Given the description of an element on the screen output the (x, y) to click on. 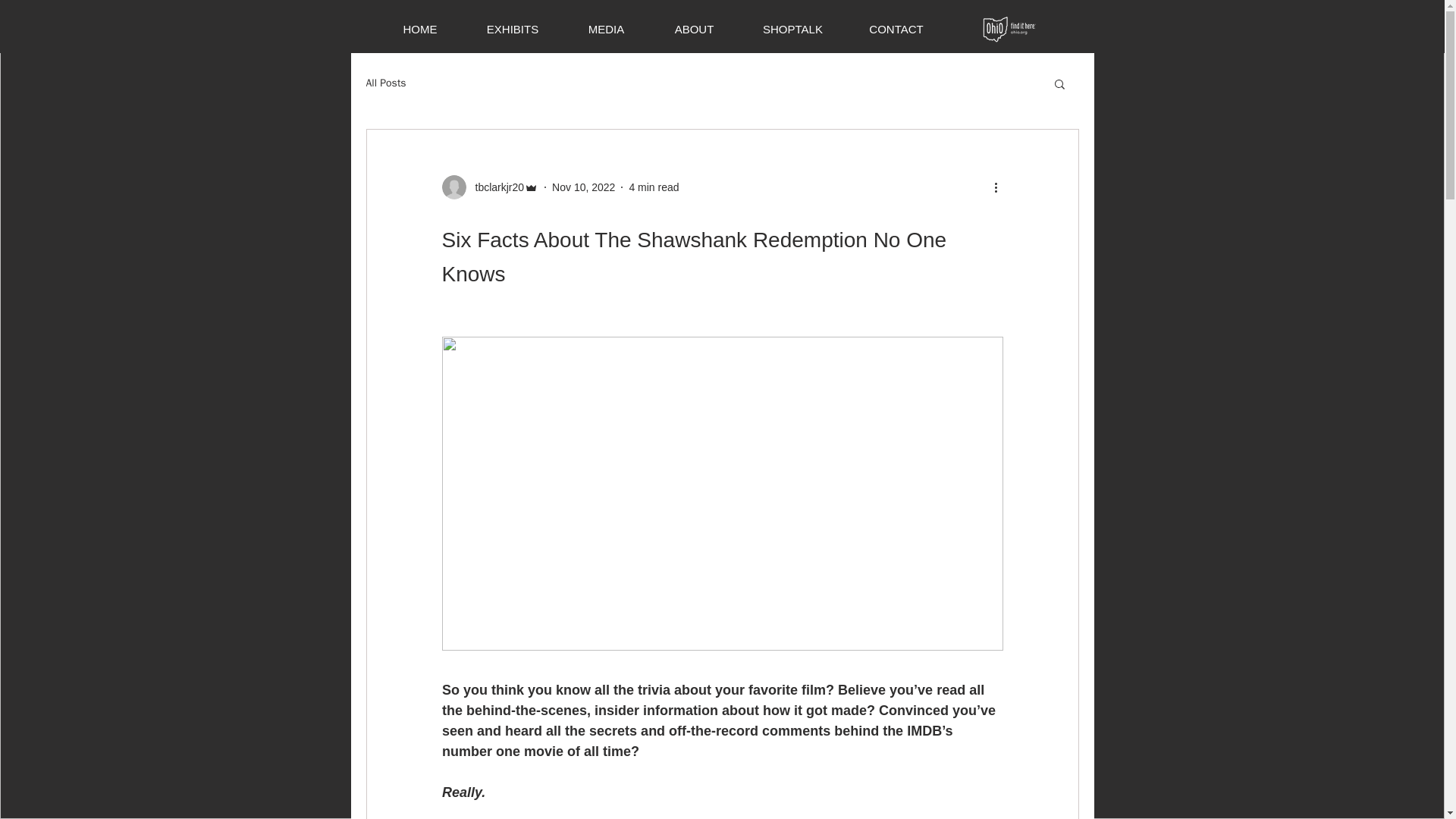
CONTACT (894, 29)
EXHIBITS (513, 29)
tbclarkjr20 (489, 187)
HOME (419, 29)
All Posts (385, 83)
tbclarkjr20 (494, 186)
ABOUT (693, 29)
MEDIA (605, 29)
4 min read (653, 186)
Nov 10, 2022 (582, 186)
